Given the description of an element on the screen output the (x, y) to click on. 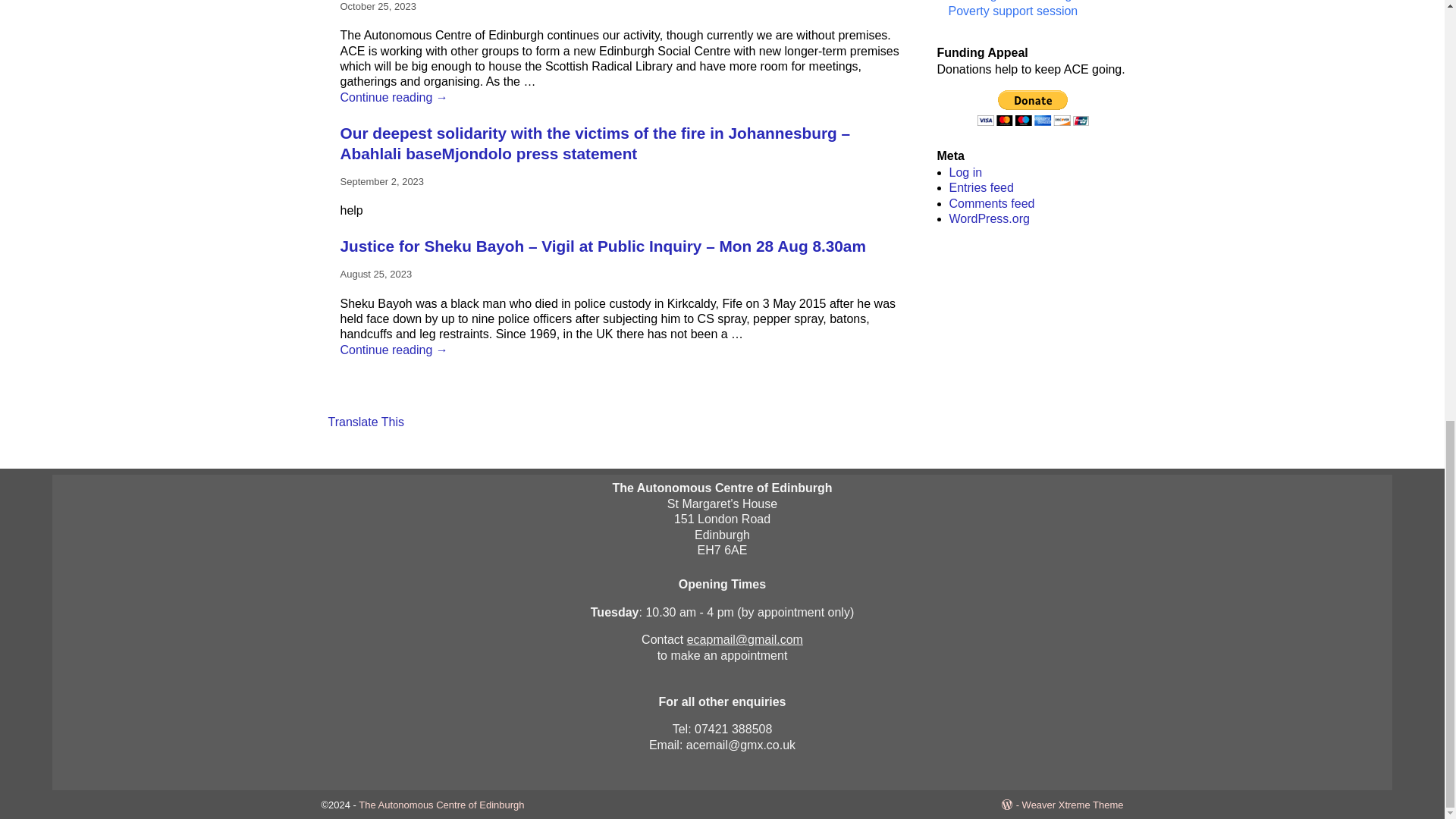
Weaver Xtreme Theme (1073, 804)
Proudly powered by WordPress (1011, 804)
The Autonomous Centre of Edinburgh (441, 804)
Translate This (365, 421)
